Given the description of an element on the screen output the (x, y) to click on. 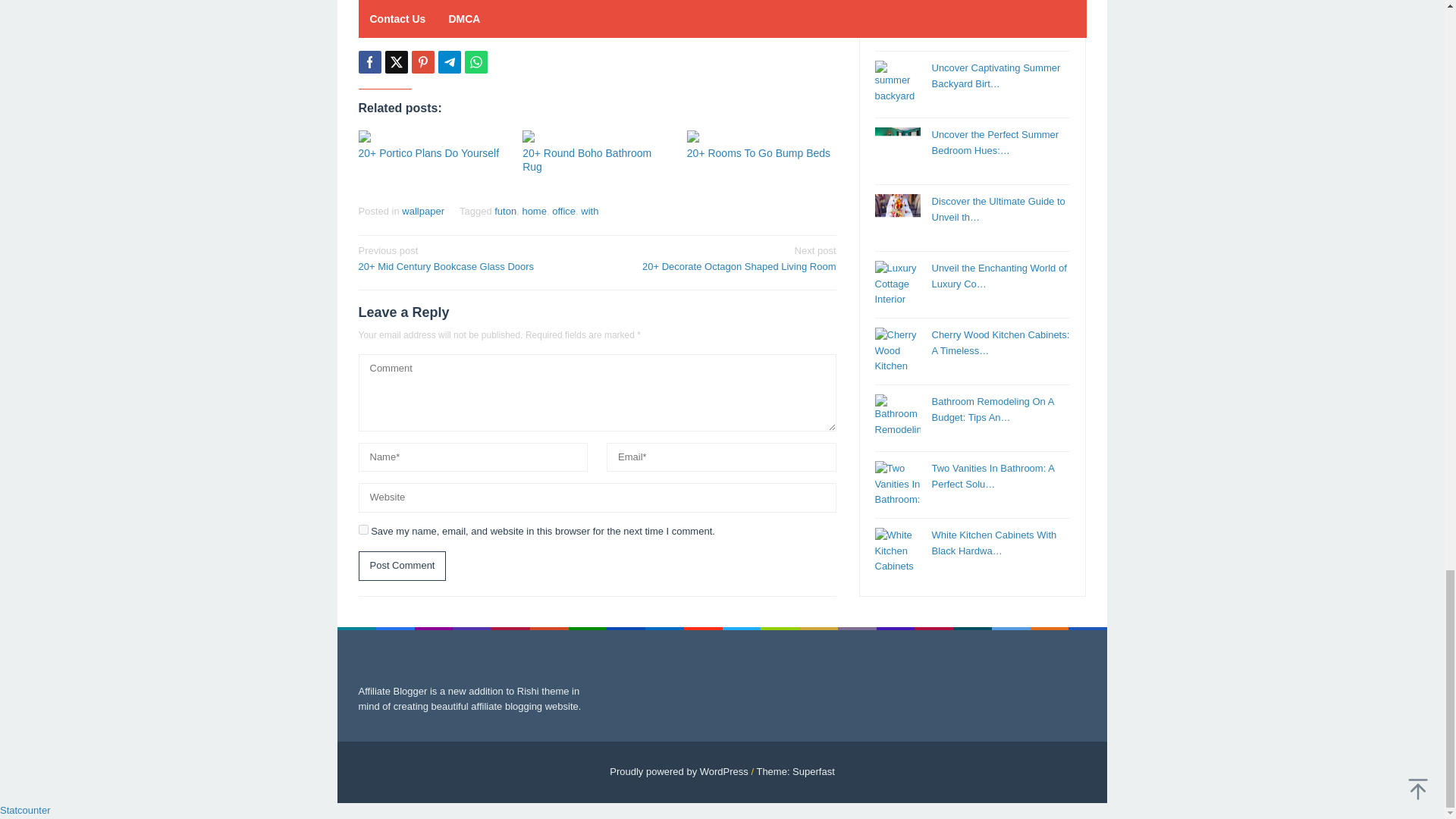
Tweet this (396, 61)
yes (363, 529)
Telegram Share (449, 61)
Share this (369, 61)
Post Comment (401, 565)
Whatsapp (475, 61)
Pin this (421, 61)
